Given the description of an element on the screen output the (x, y) to click on. 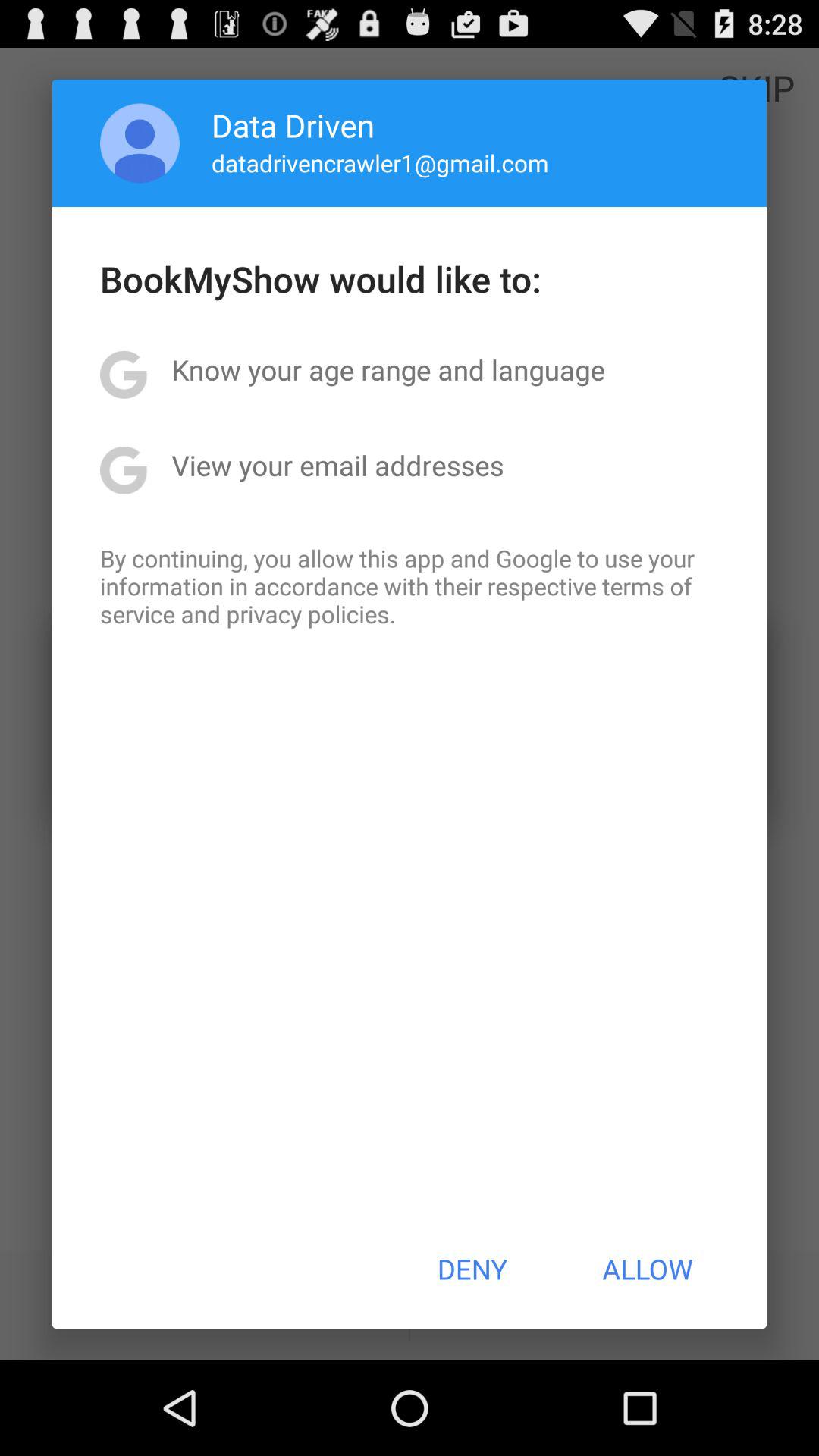
turn off the item above view your email app (388, 369)
